Given the description of an element on the screen output the (x, y) to click on. 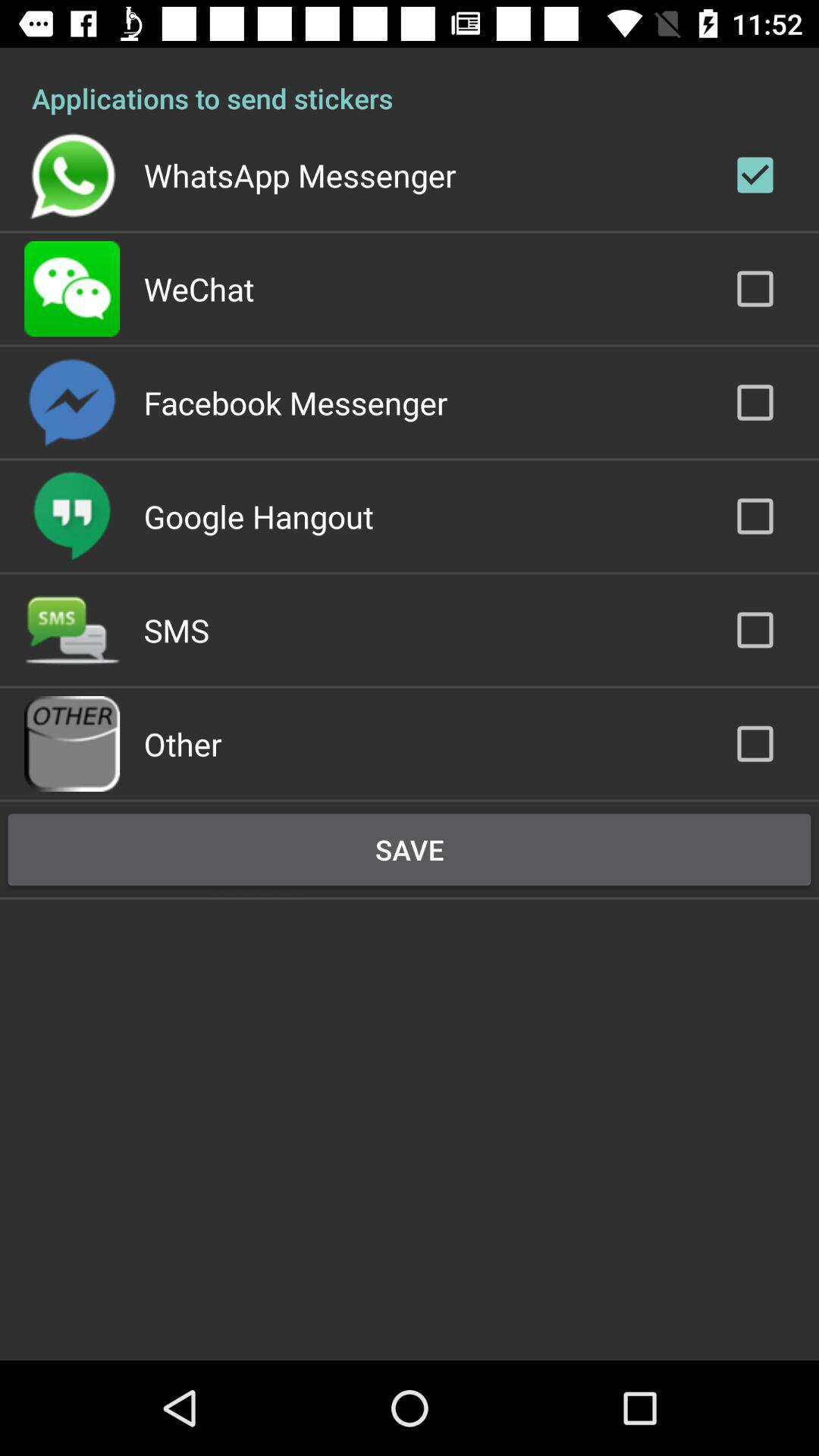
choose item above the facebook messenger (198, 288)
